Given the description of an element on the screen output the (x, y) to click on. 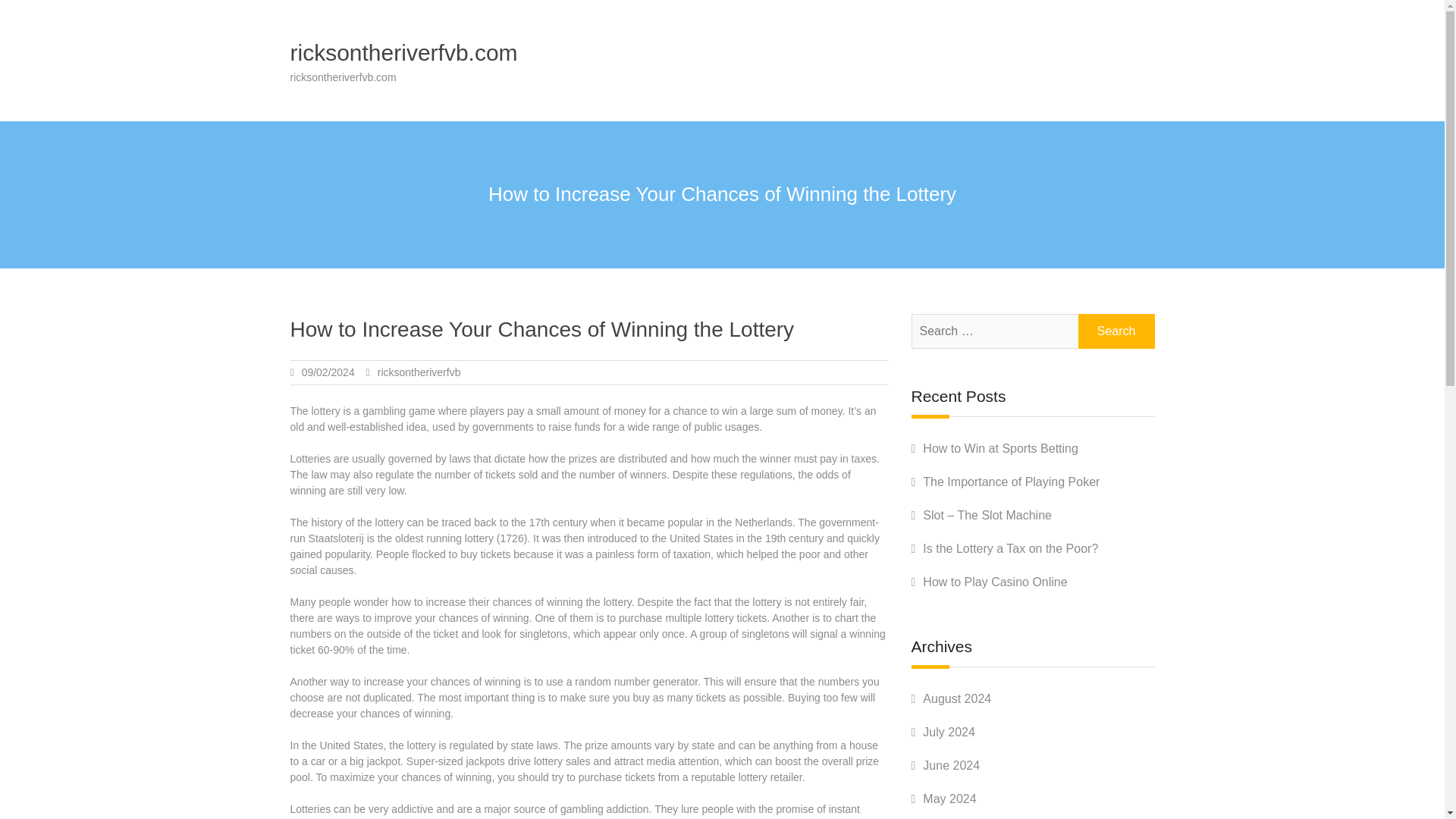
August 2024 (957, 698)
Is the Lottery a Tax on the Poor? (1010, 548)
How to Play Casino Online (995, 581)
July 2024 (949, 731)
June 2024 (951, 765)
ricksontheriverfvb (419, 372)
Search (1116, 330)
Search (1116, 330)
ricksontheriverfvb.com (402, 52)
The Importance of Playing Poker (1011, 481)
